Given the description of an element on the screen output the (x, y) to click on. 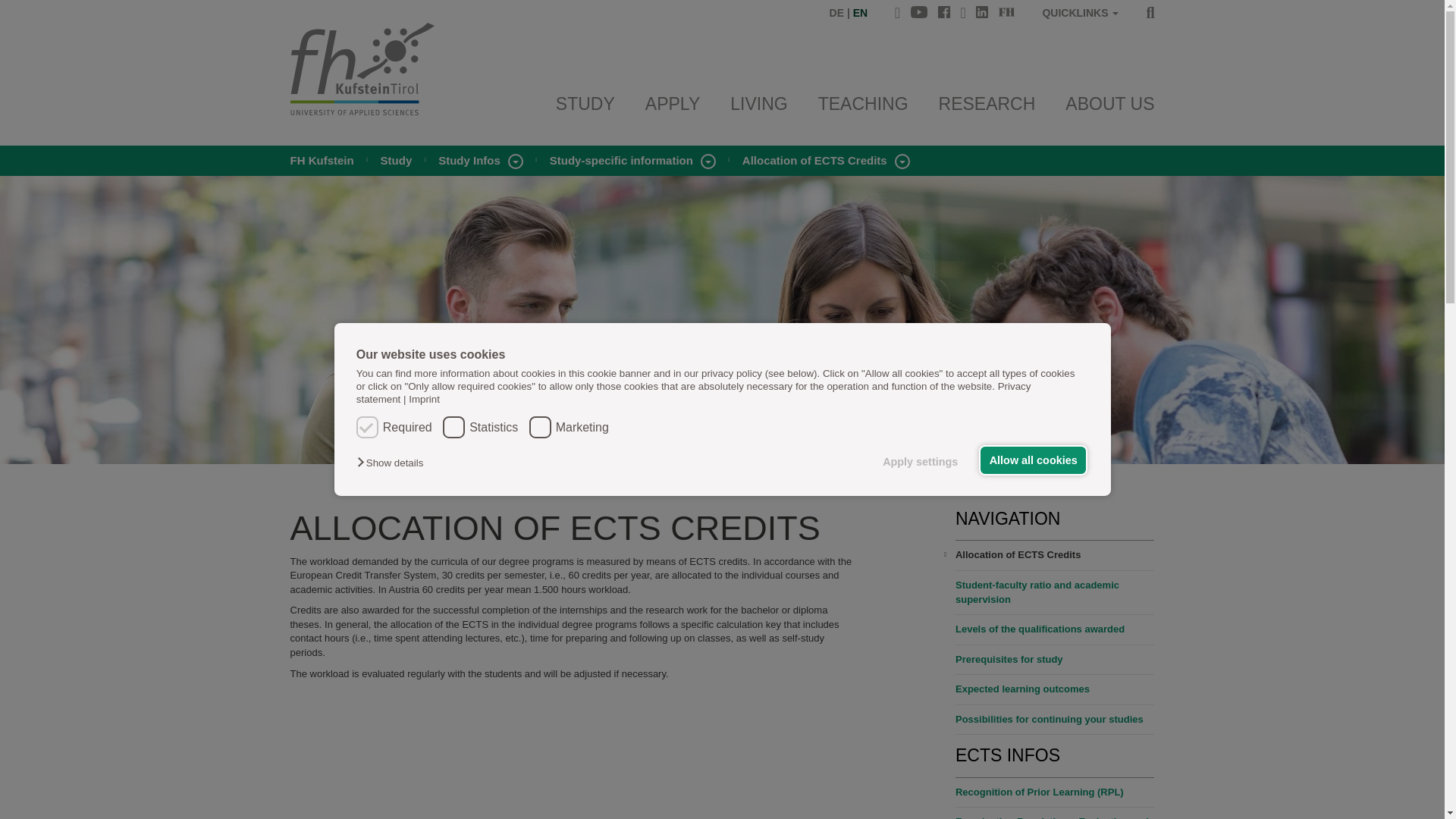
Privacy statement (692, 392)
Show details (392, 462)
Apply settings (924, 461)
STUDY (585, 103)
EN (860, 12)
DE (836, 12)
Imprint (421, 398)
Allow all cookies (1032, 460)
QUICKLINKS (1079, 13)
Privacy statement (692, 392)
